Given the description of an element on the screen output the (x, y) to click on. 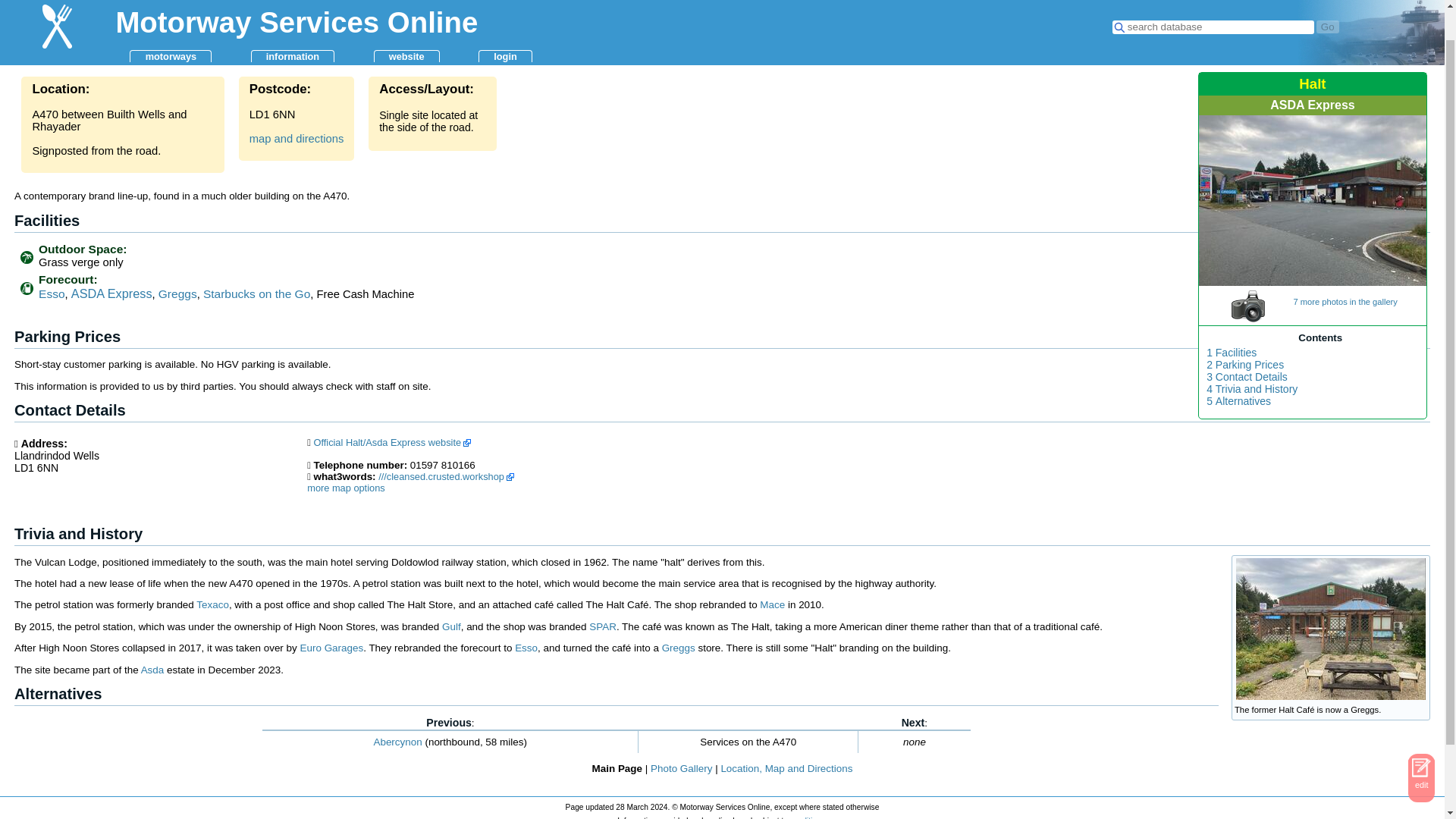
login (505, 21)
website (406, 21)
4 Trivia and History (1252, 389)
information (292, 21)
ASDA Express (1311, 105)
2 Parking Prices (1245, 365)
motorways (170, 21)
1 Facilities (1231, 352)
3 Contact Details (1247, 377)
7 more photos in the gallery (1325, 296)
